Given the description of an element on the screen output the (x, y) to click on. 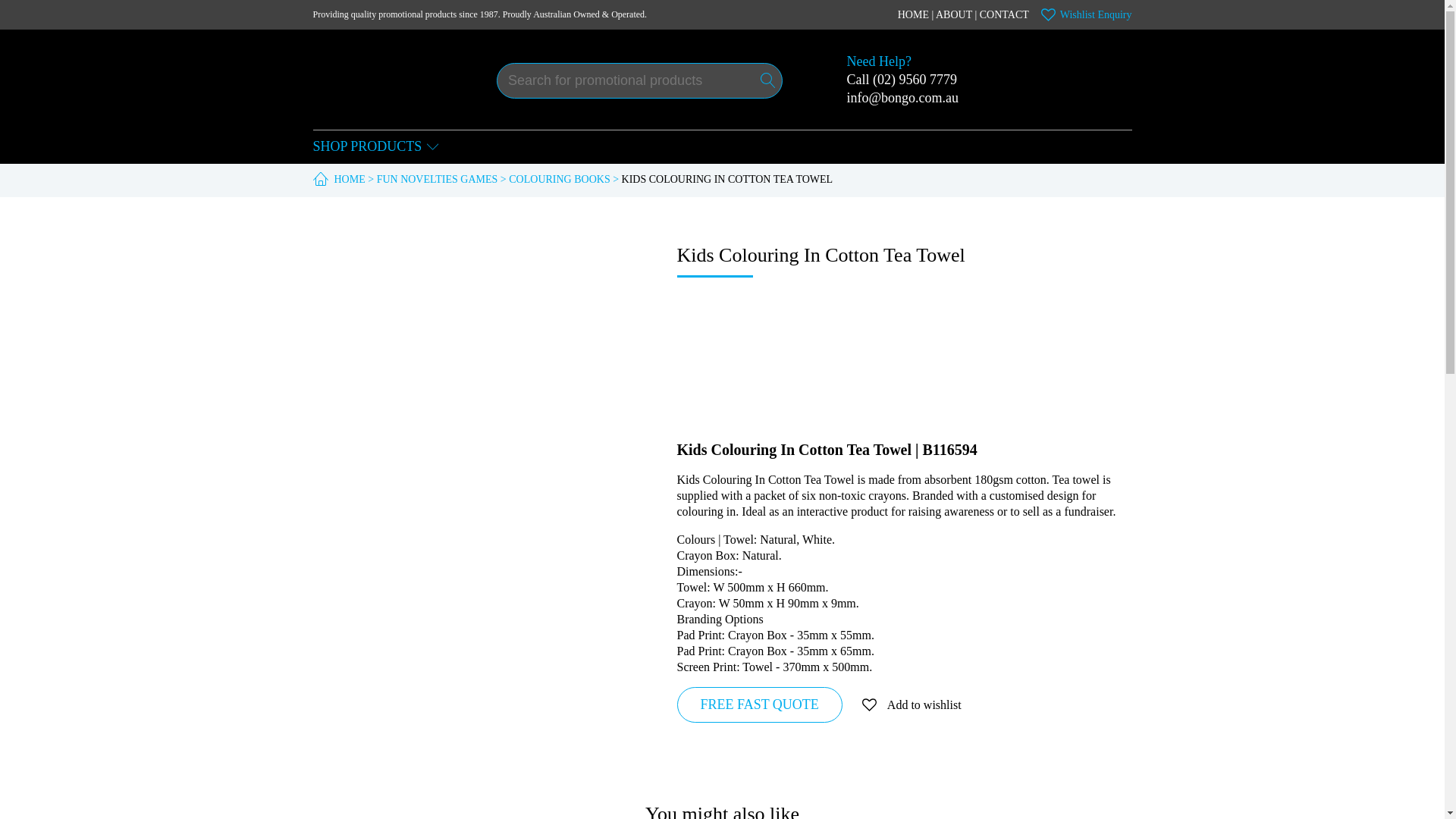
Wishlist Enquiry (1086, 14)
Search for: (639, 79)
HOME (913, 14)
ABOUT (954, 14)
SHOP PRODUCTS (376, 147)
CONTACT (1004, 14)
